Given the description of an element on the screen output the (x, y) to click on. 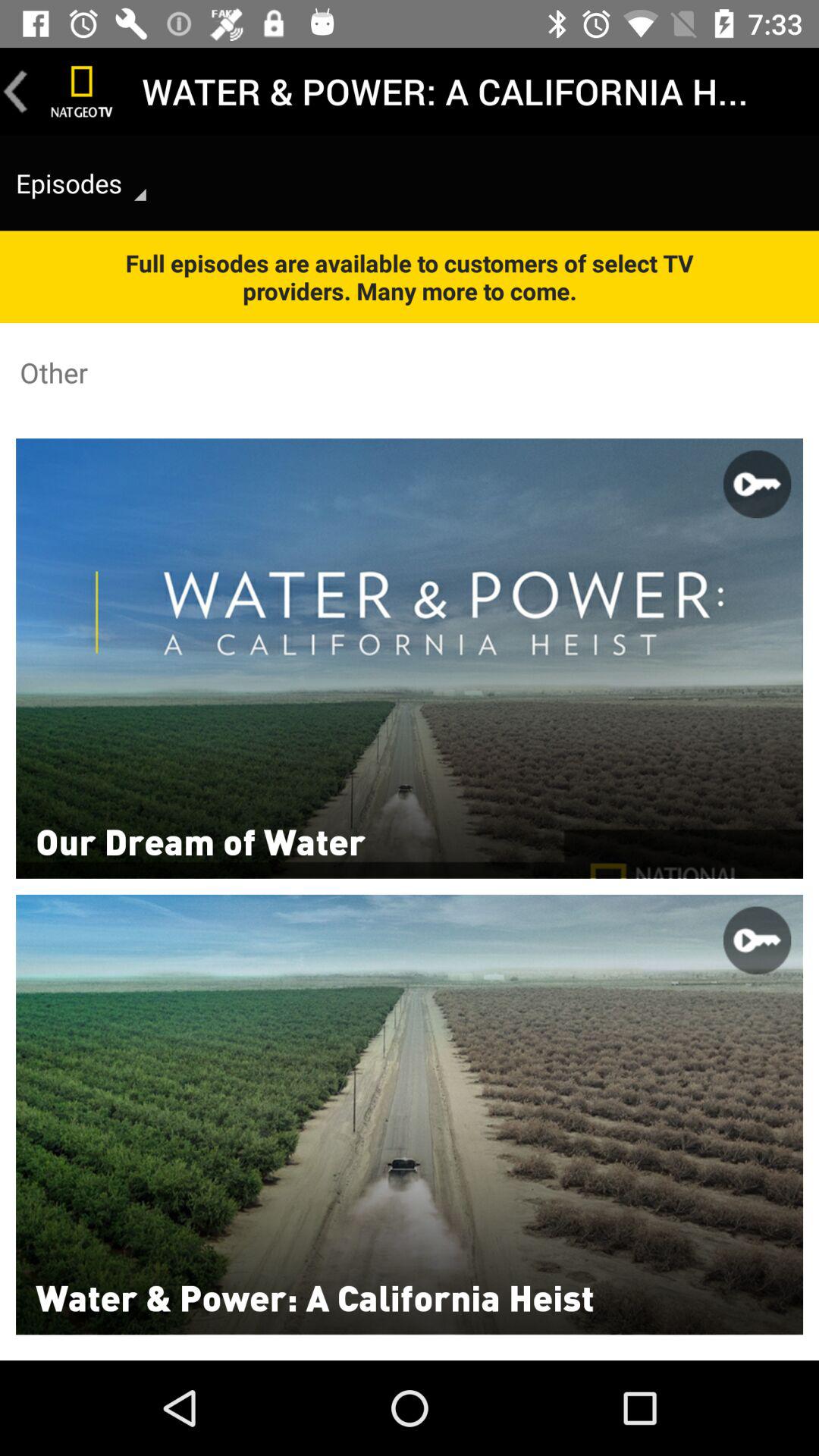
launch the icon above episodes icon (81, 91)
